Given the description of an element on the screen output the (x, y) to click on. 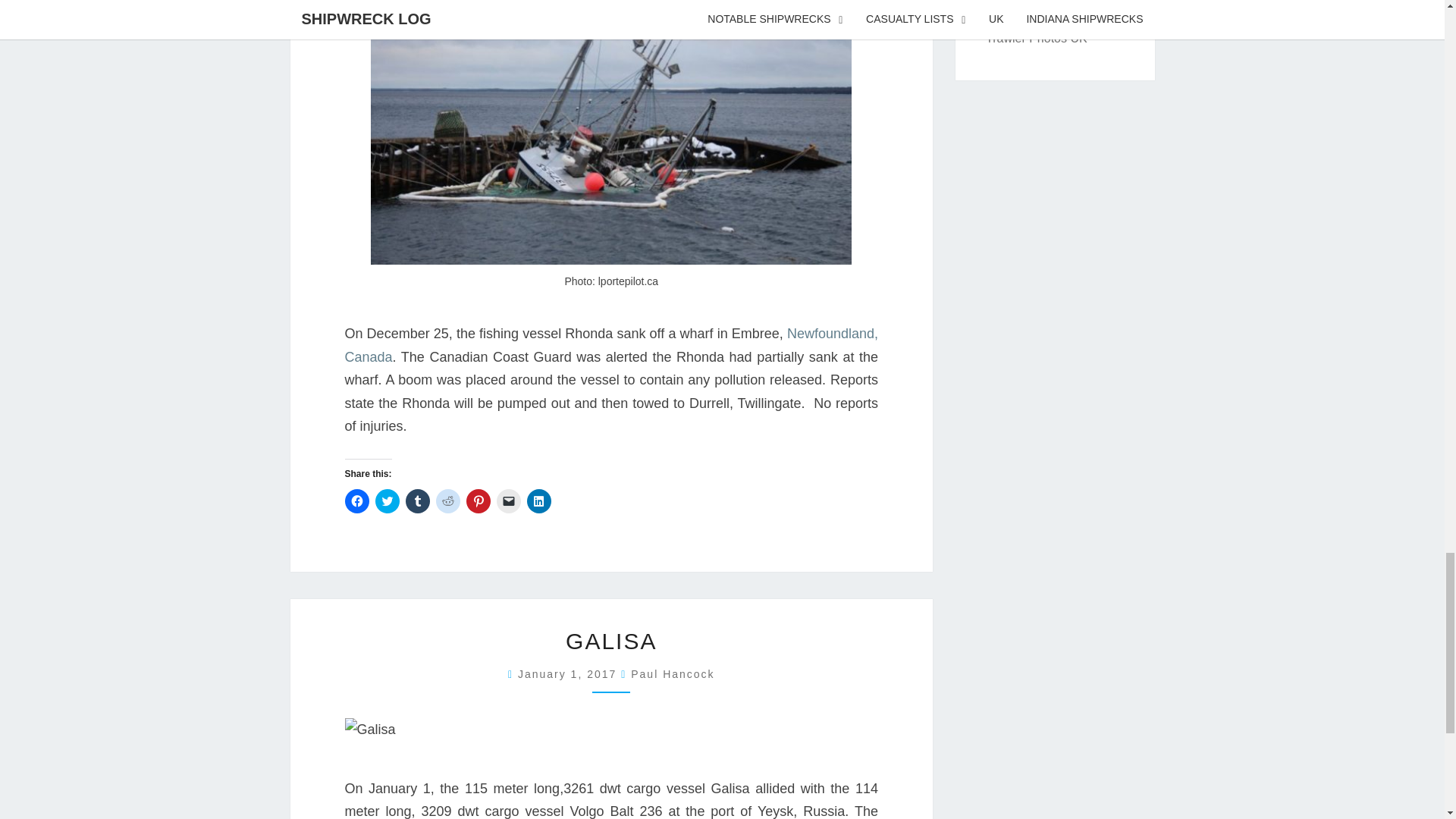
Click to share on Facebook (355, 500)
Newfoundland and Labrador (610, 344)
Click to share on Tumblr (416, 500)
Click to share on Reddit (447, 500)
Click to share on Pinterest (477, 500)
Click to share on Twitter (386, 500)
